Given the description of an element on the screen output the (x, y) to click on. 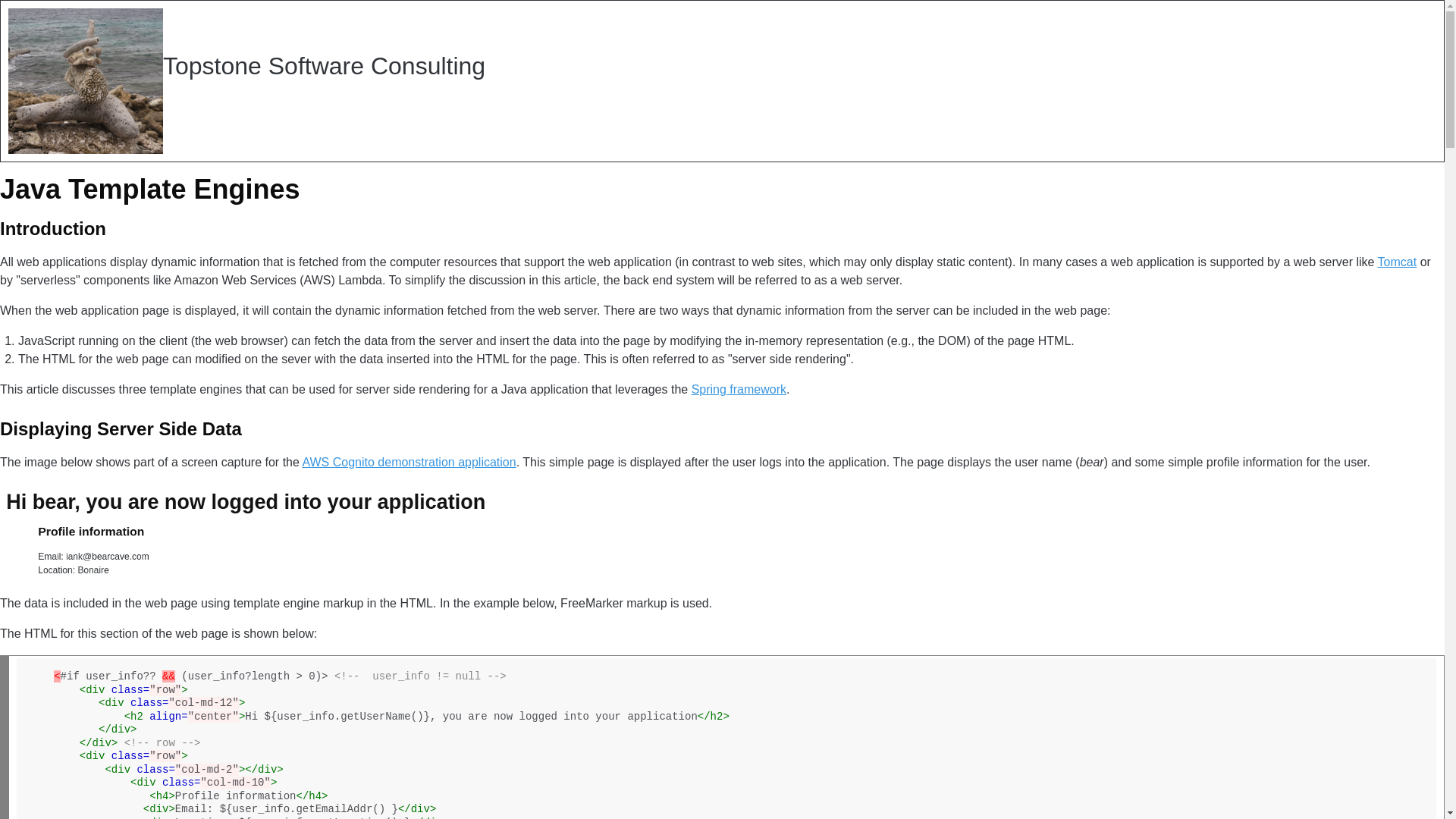
AWS Cognito demonstration application (408, 461)
Tomcat (1396, 261)
Spring framework (738, 389)
